Given the description of an element on the screen output the (x, y) to click on. 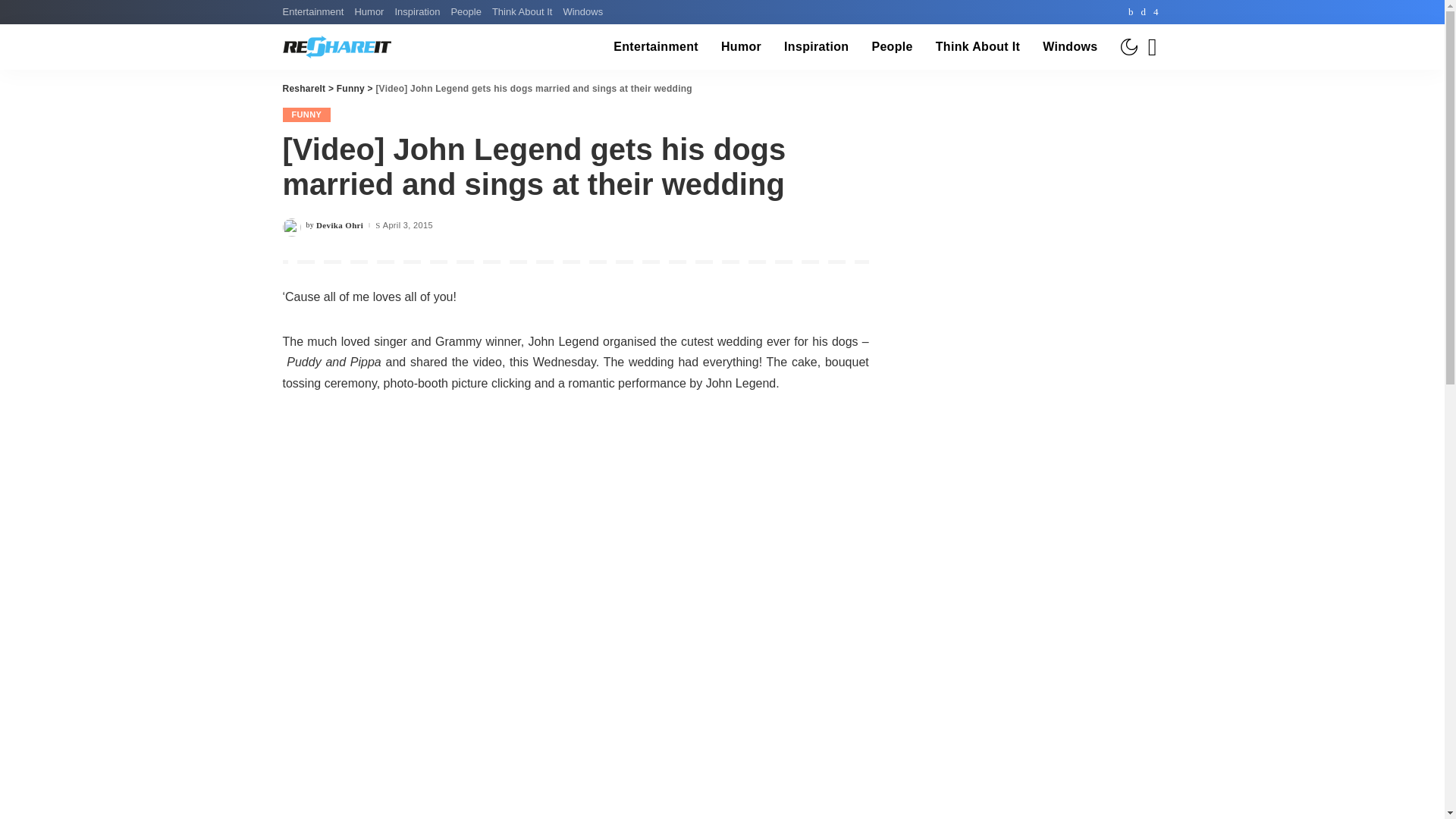
Windows (1069, 46)
Go to ReshareIt. (303, 88)
Think About It (521, 11)
Humor (368, 11)
People (465, 11)
Search (1140, 89)
Go to the Funny Category archives. (350, 88)
2015-04-03T15:01:54-05:00 (407, 225)
Inspiration (816, 46)
Humor (741, 46)
